Given the description of an element on the screen output the (x, y) to click on. 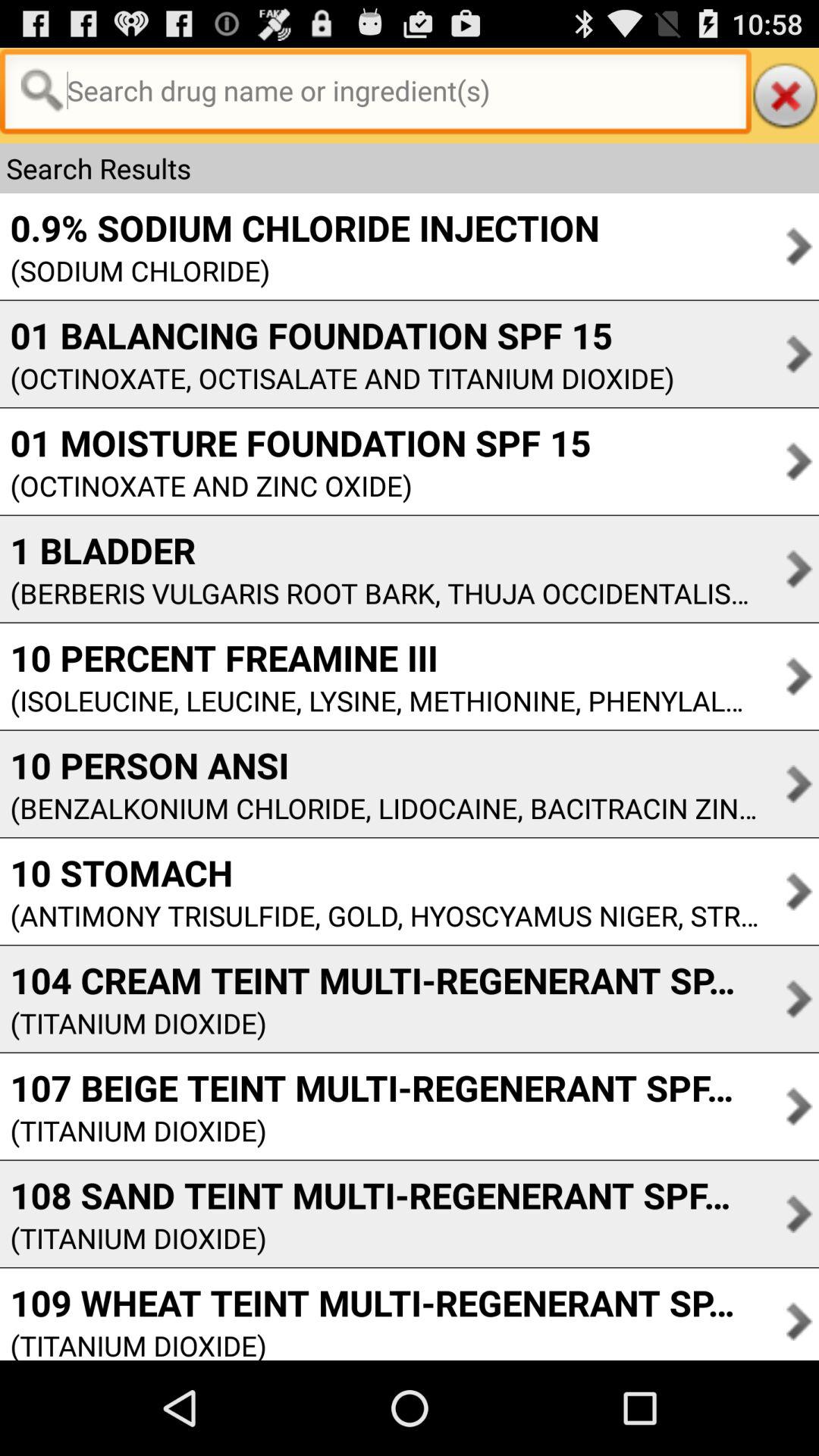
click the icon above the 104 cream teint (379, 915)
